Given the description of an element on the screen output the (x, y) to click on. 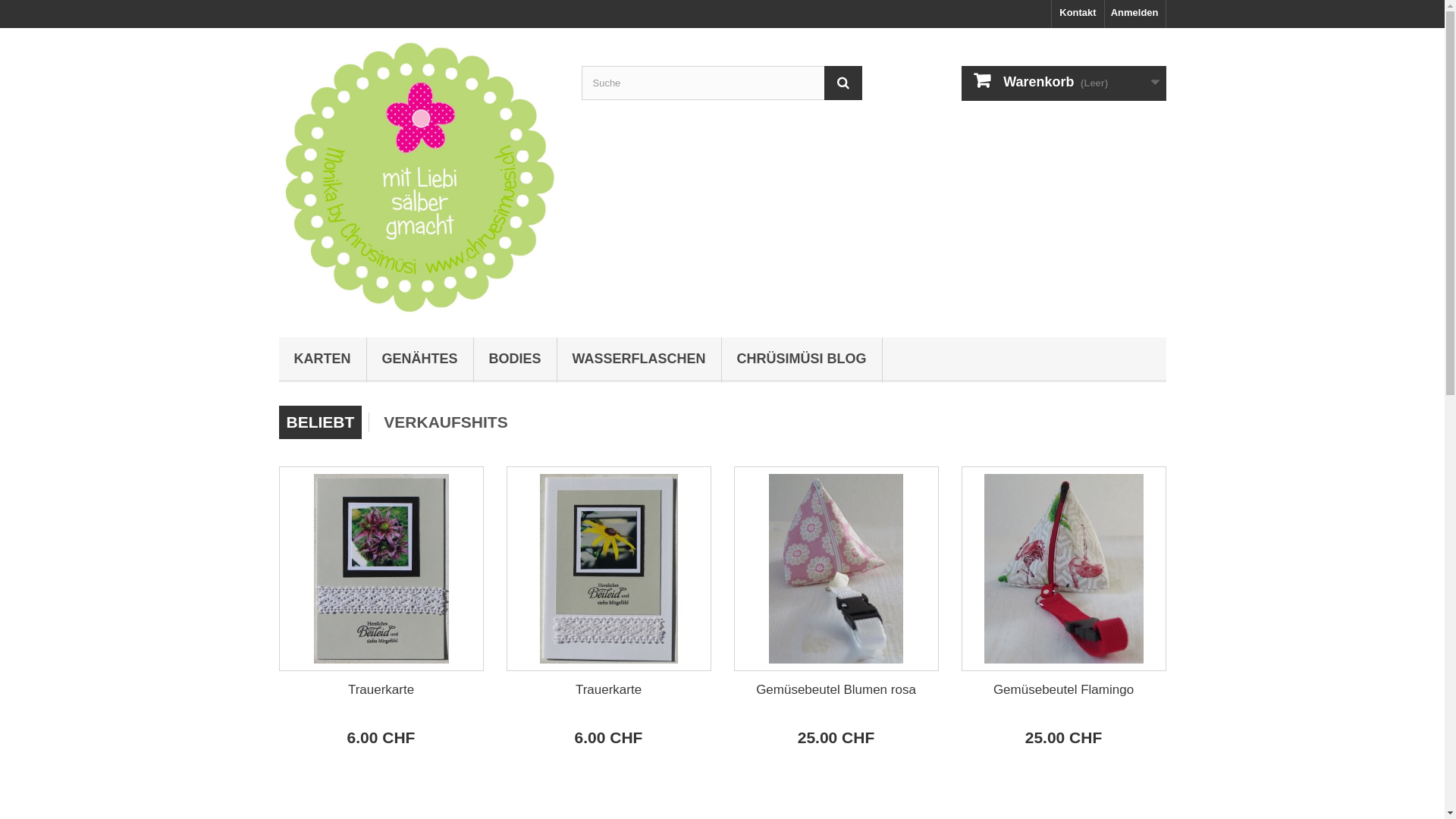
WASSERFLASCHEN Element type: text (639, 359)
Trauerkarte Element type: hover (608, 568)
Kontakt Element type: text (1077, 14)
BELIEBT Element type: text (320, 422)
Trauerkarte Element type: text (380, 689)
Anmelden Element type: text (1134, 14)
KARTEN Element type: text (322, 359)
Warenkorb (Leer) Element type: text (1063, 82)
Trauerkarte Element type: hover (381, 568)
chruesimuesi.ch Element type: hover (419, 178)
Trauerkarte Element type: text (608, 689)
VERKAUFSHITS Element type: text (445, 422)
BODIES Element type: text (514, 359)
